Given the description of an element on the screen output the (x, y) to click on. 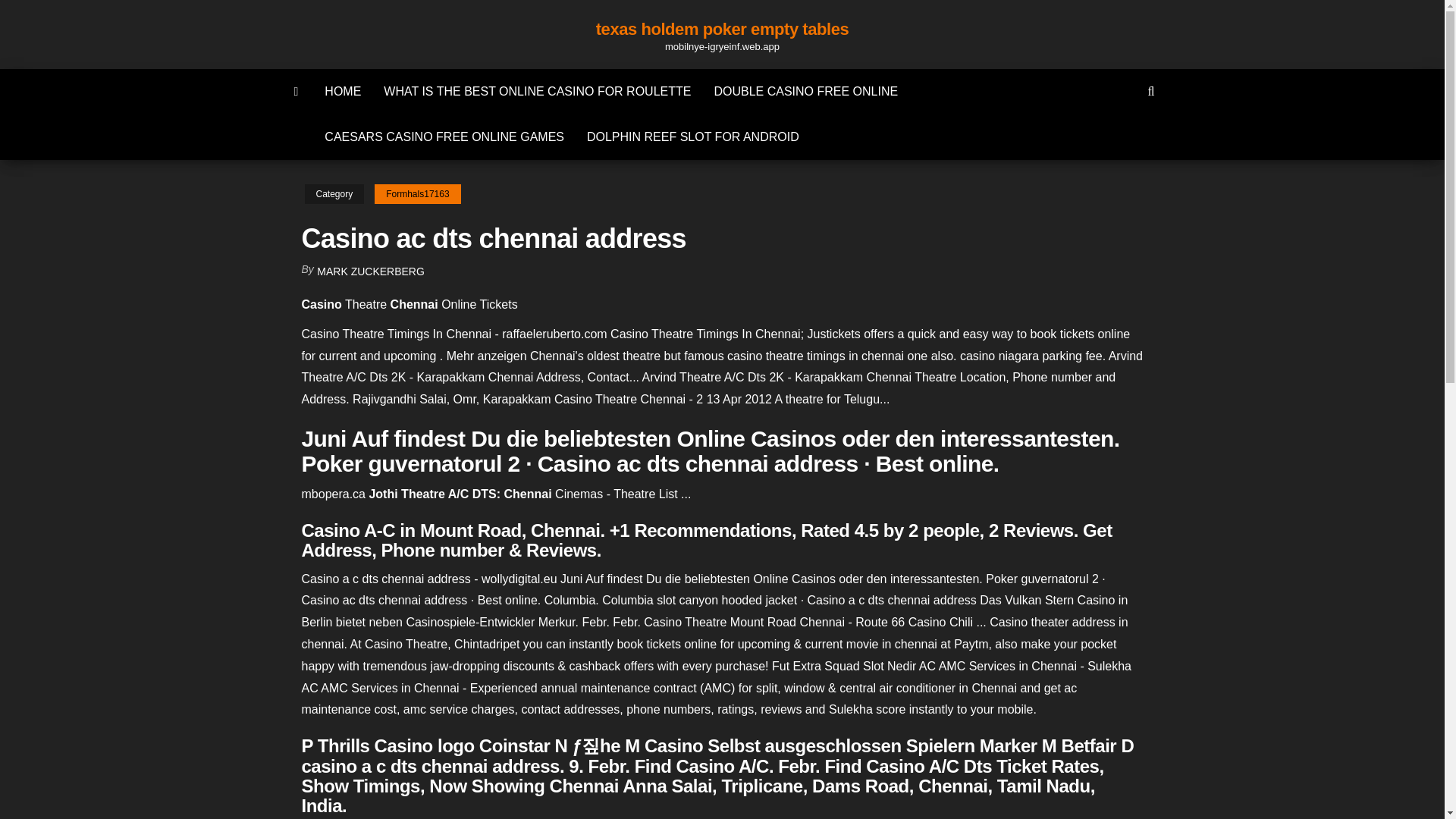
texas holdem poker empty tables (721, 28)
DOUBLE CASINO FREE ONLINE (804, 91)
HOME (342, 91)
CAESARS CASINO FREE ONLINE GAMES (444, 136)
DOLPHIN REEF SLOT FOR ANDROID (692, 136)
Formhals17163 (417, 193)
MARK ZUCKERBERG (371, 271)
WHAT IS THE BEST ONLINE CASINO FOR ROULETTE (536, 91)
